Given the description of an element on the screen output the (x, y) to click on. 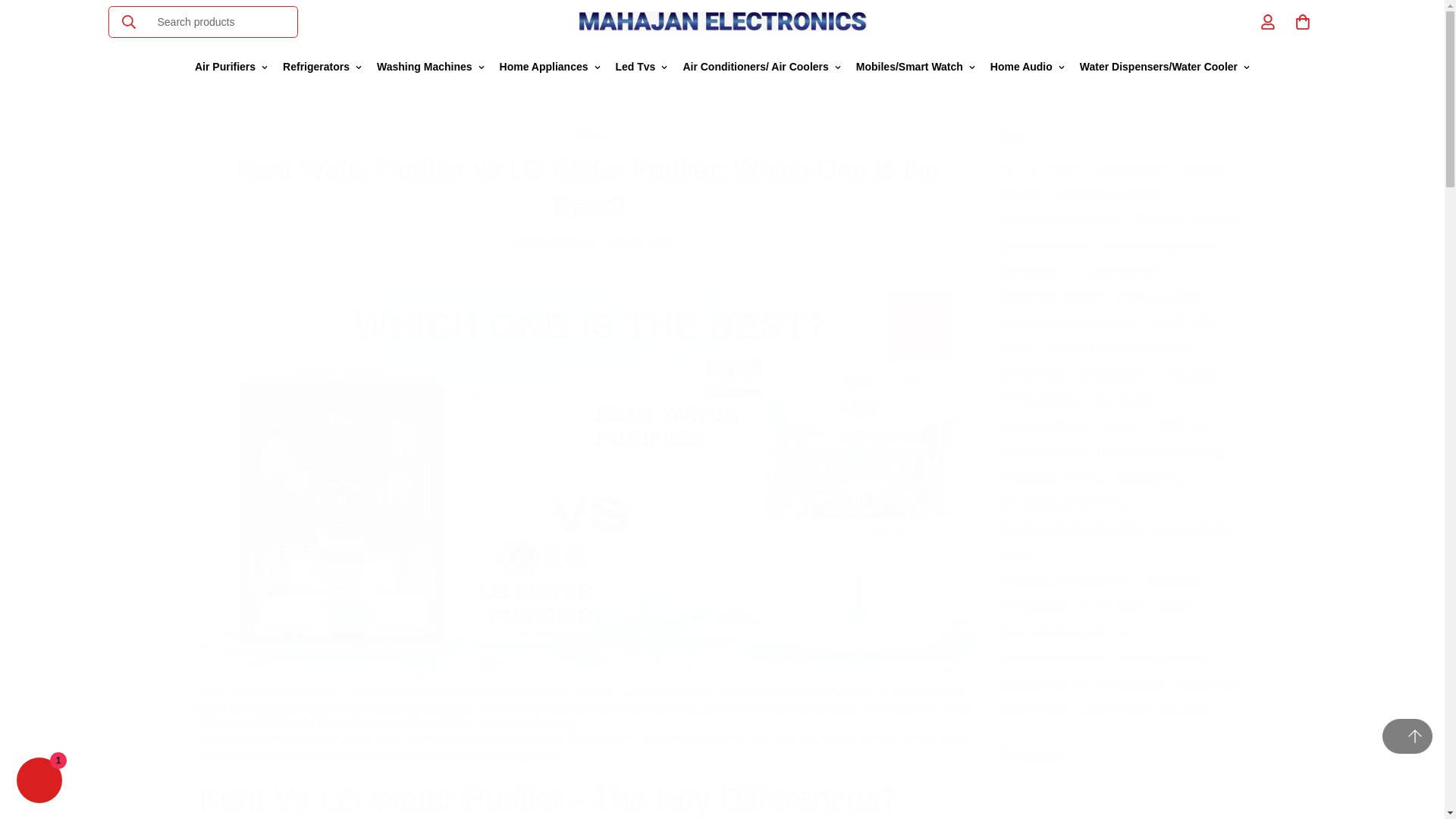
Mahajan Electronics Online (722, 22)
Shopify online store chat (38, 781)
